Given the description of an element on the screen output the (x, y) to click on. 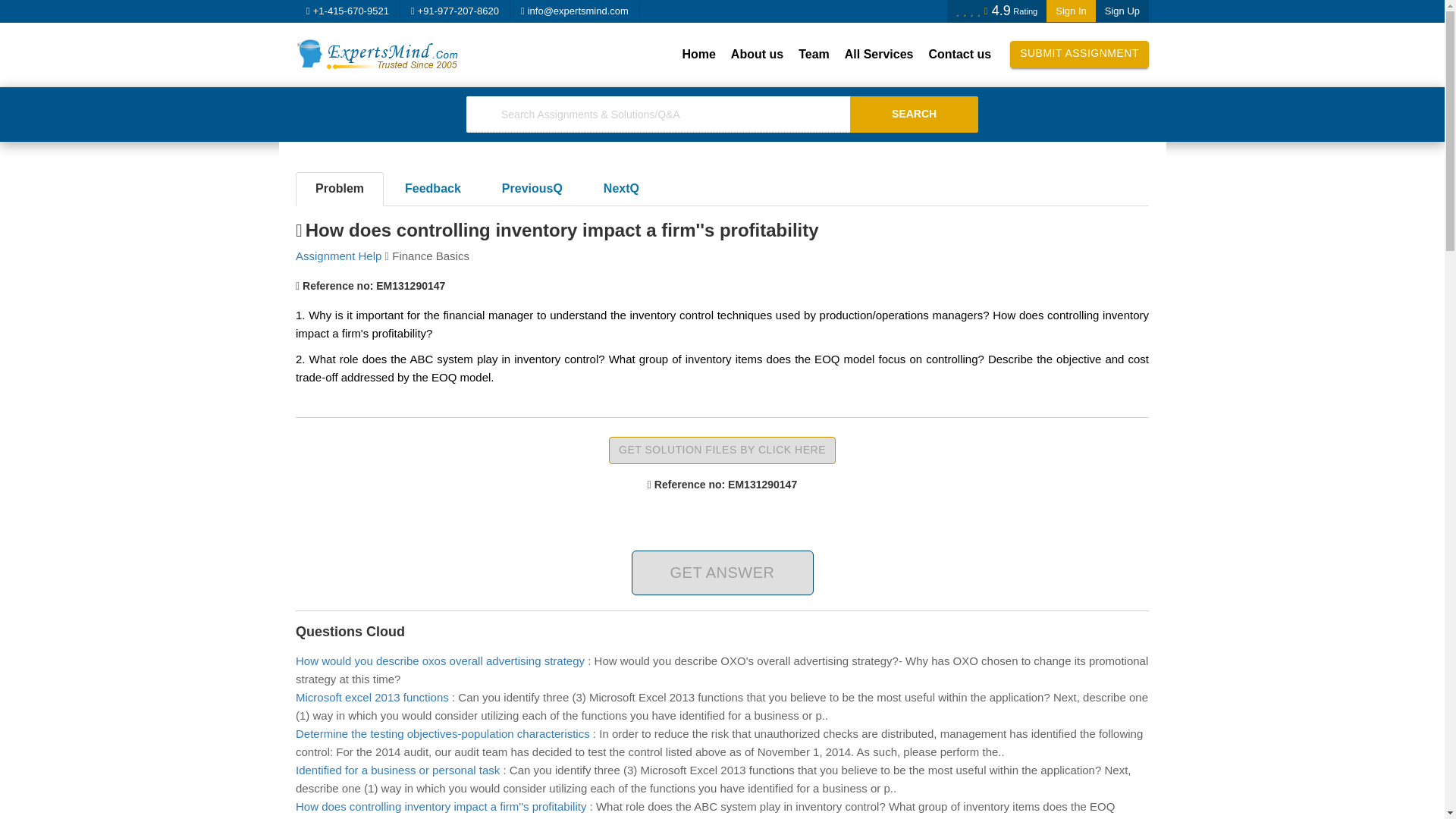
Search (914, 114)
NextQ (621, 188)
SUBMIT ASSIGNMENT (1079, 53)
Get Solution Files by Click here (721, 450)
About us (756, 54)
Contact us (959, 54)
PreviousQ (531, 188)
Sign In (1070, 11)
4.9 Rating (996, 11)
Get Answer (721, 572)
